Given the description of an element on the screen output the (x, y) to click on. 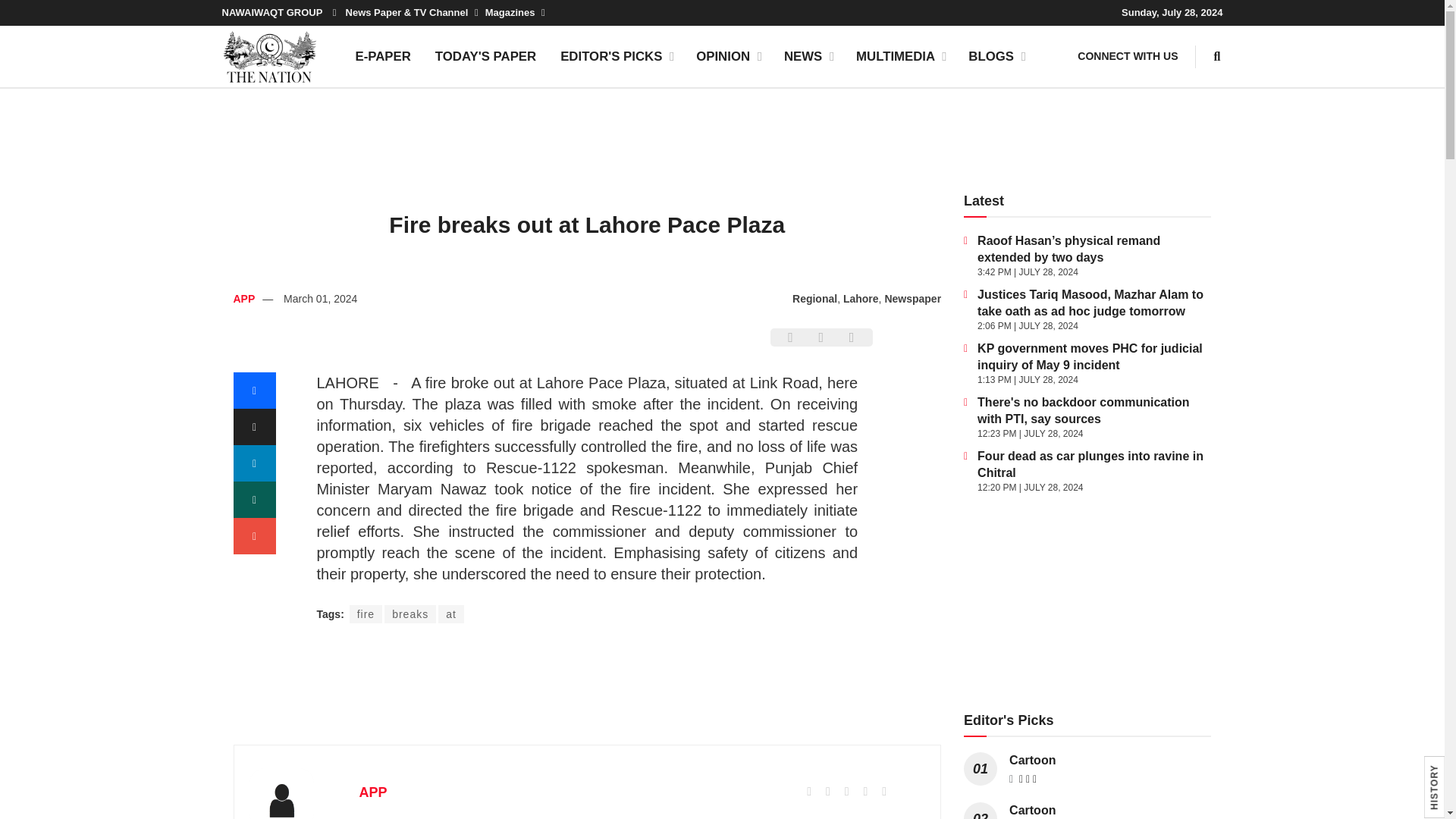
E-PAPER (382, 55)
BLOGS (995, 55)
TODAY'S PAPER (485, 55)
EDITOR'S PICKS (616, 55)
NEWS (807, 55)
Magazines (513, 12)
MULTIMEDIA (900, 55)
OPINION (727, 55)
